Given the description of an element on the screen output the (x, y) to click on. 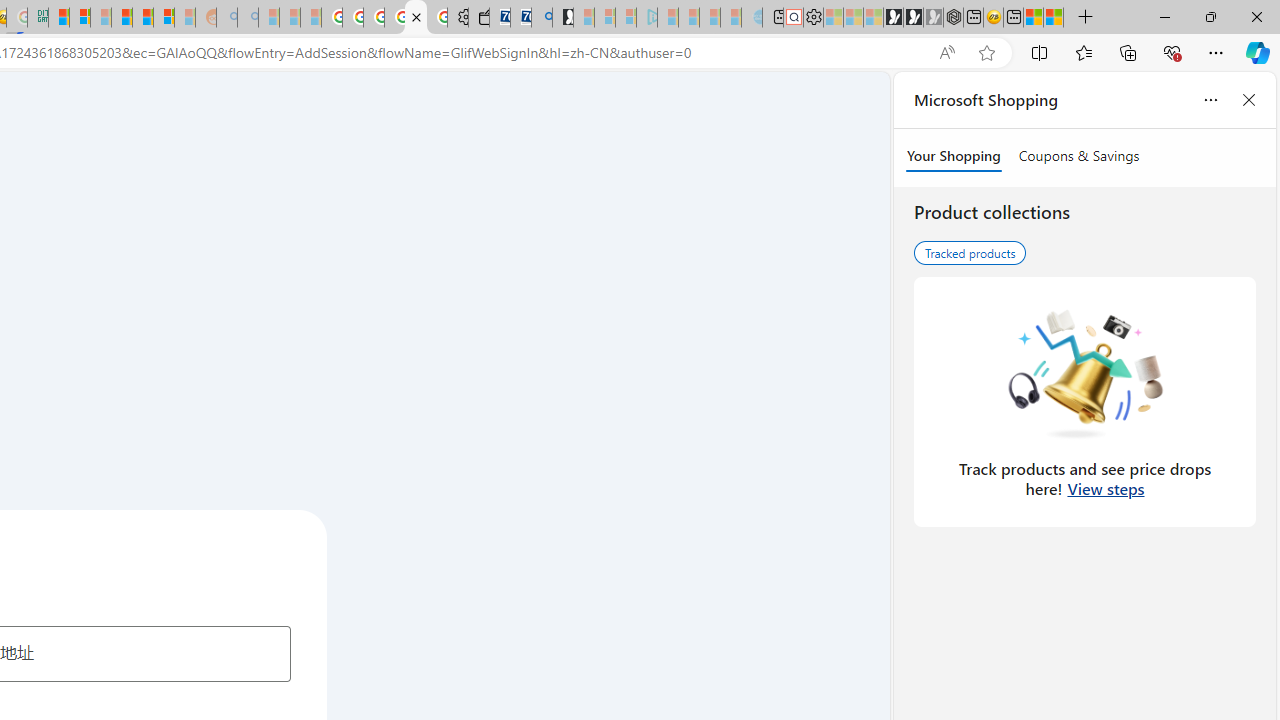
Microsoft Start - Sleeping (710, 17)
Nordace - Nordace Siena Is Not An Ordinary Backpack (952, 17)
Bing Real Estate - Home sales and rental listings (541, 17)
DITOGAMES AG Imprint (38, 17)
